Given the description of an element on the screen output the (x, y) to click on. 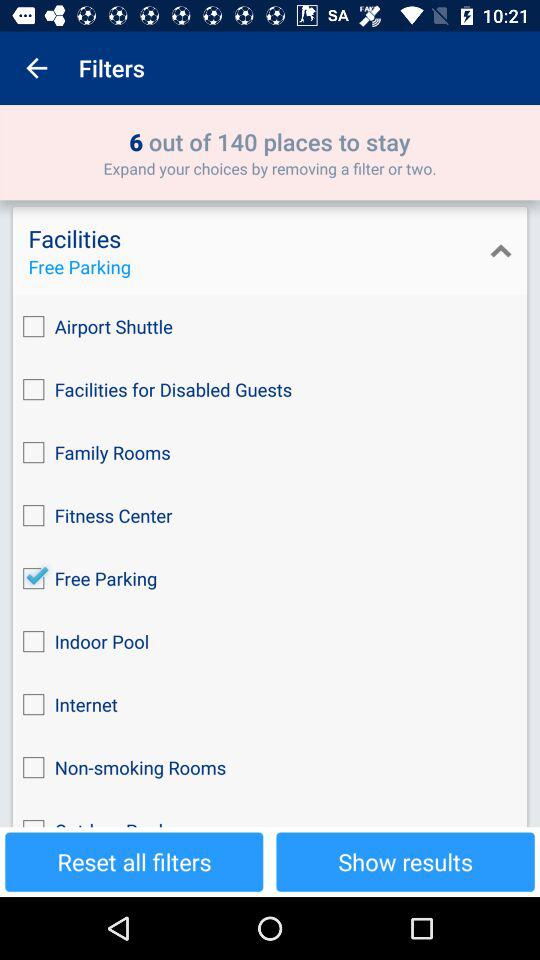
scroll to internet icon (269, 704)
